Given the description of an element on the screen output the (x, y) to click on. 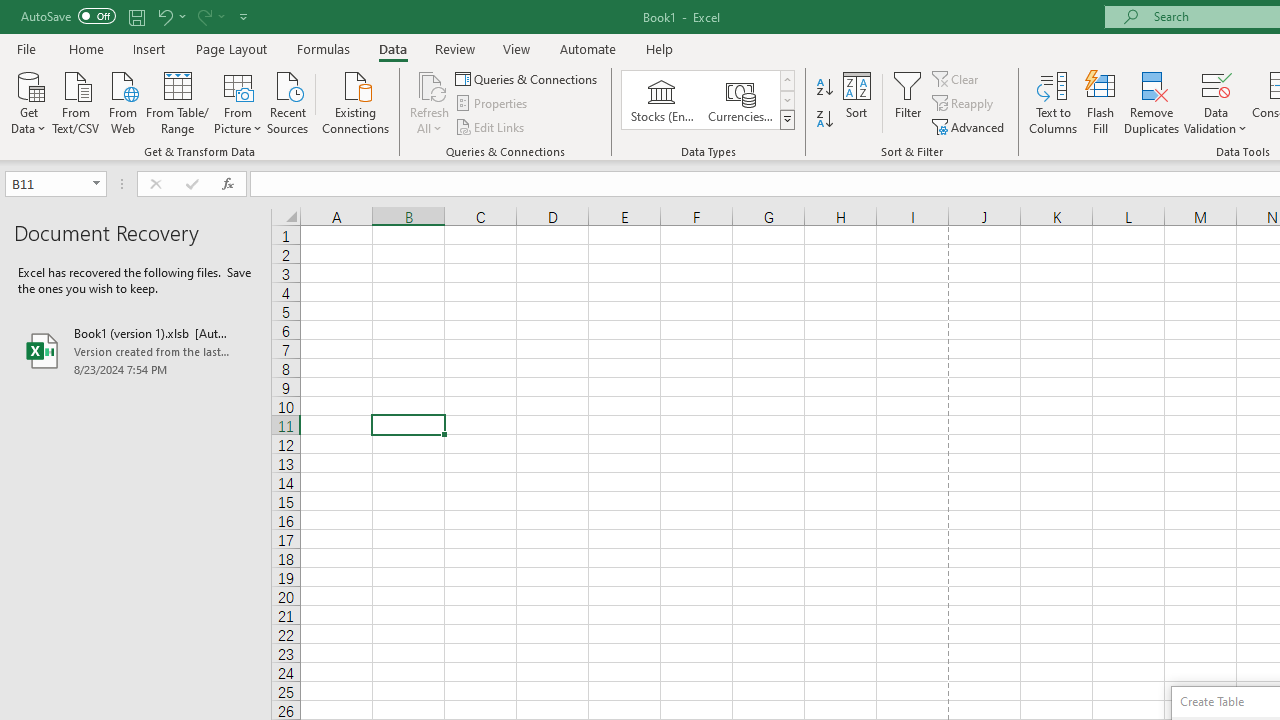
From Picture (238, 101)
Advanced... (970, 126)
Remove Duplicates (1151, 102)
Currencies (English) (740, 100)
Row up (786, 79)
